Given the description of an element on the screen output the (x, y) to click on. 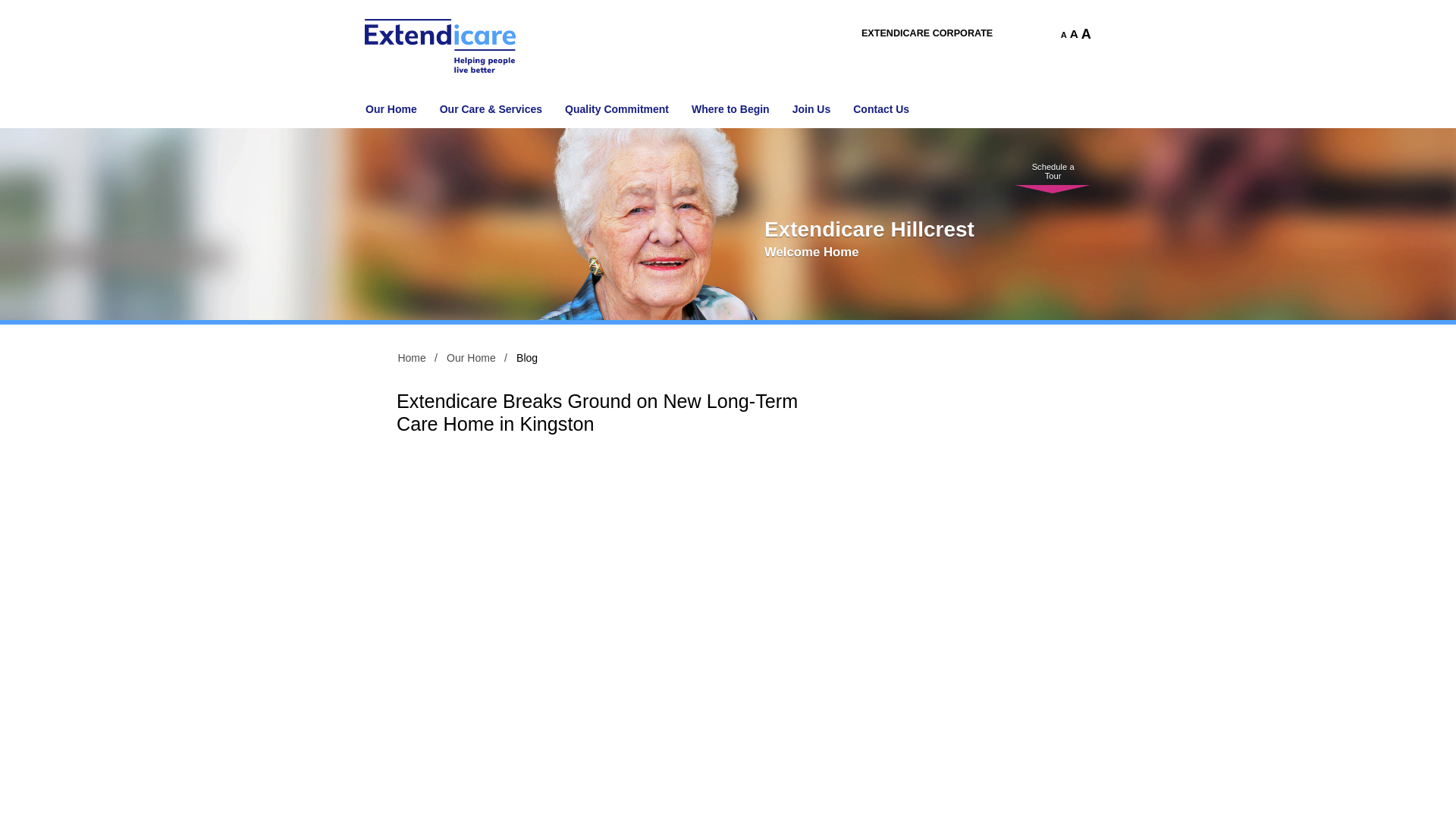
Blog (524, 358)
Home (408, 358)
Video content (610, 560)
Quality Commitment (616, 109)
Schedule a Tour (1052, 156)
YOUTUBE (1014, 34)
PRINT (1037, 34)
EXTENDICARE CORPORATE (926, 33)
A (1059, 35)
Our Home (390, 109)
